Given the description of an element on the screen output the (x, y) to click on. 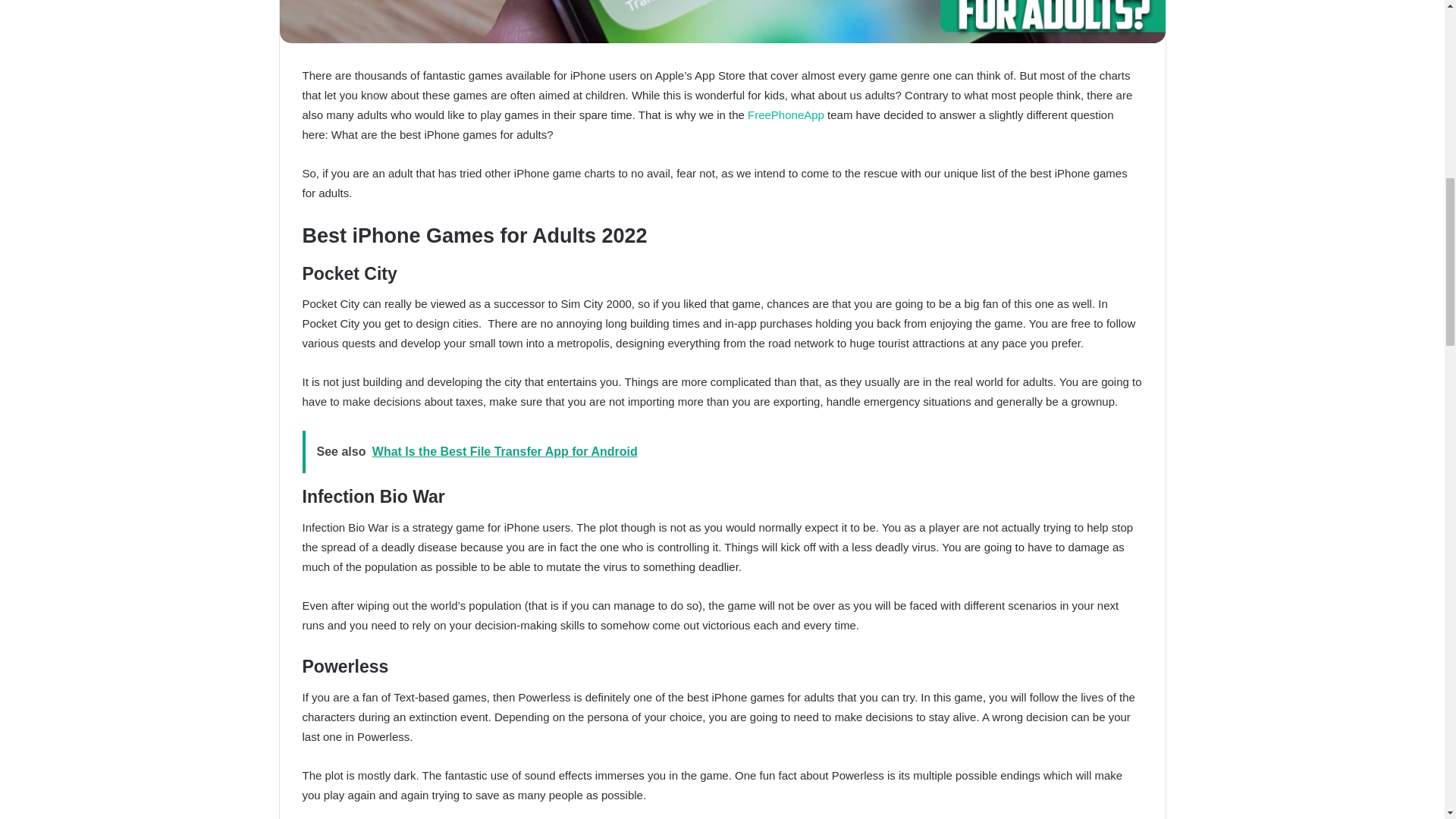
What Are the Best iPhone Games for Adults 1 (721, 21)
See also  What Is the Best File Transfer App for Android (721, 451)
FreePhoneApp (786, 114)
